Given the description of an element on the screen output the (x, y) to click on. 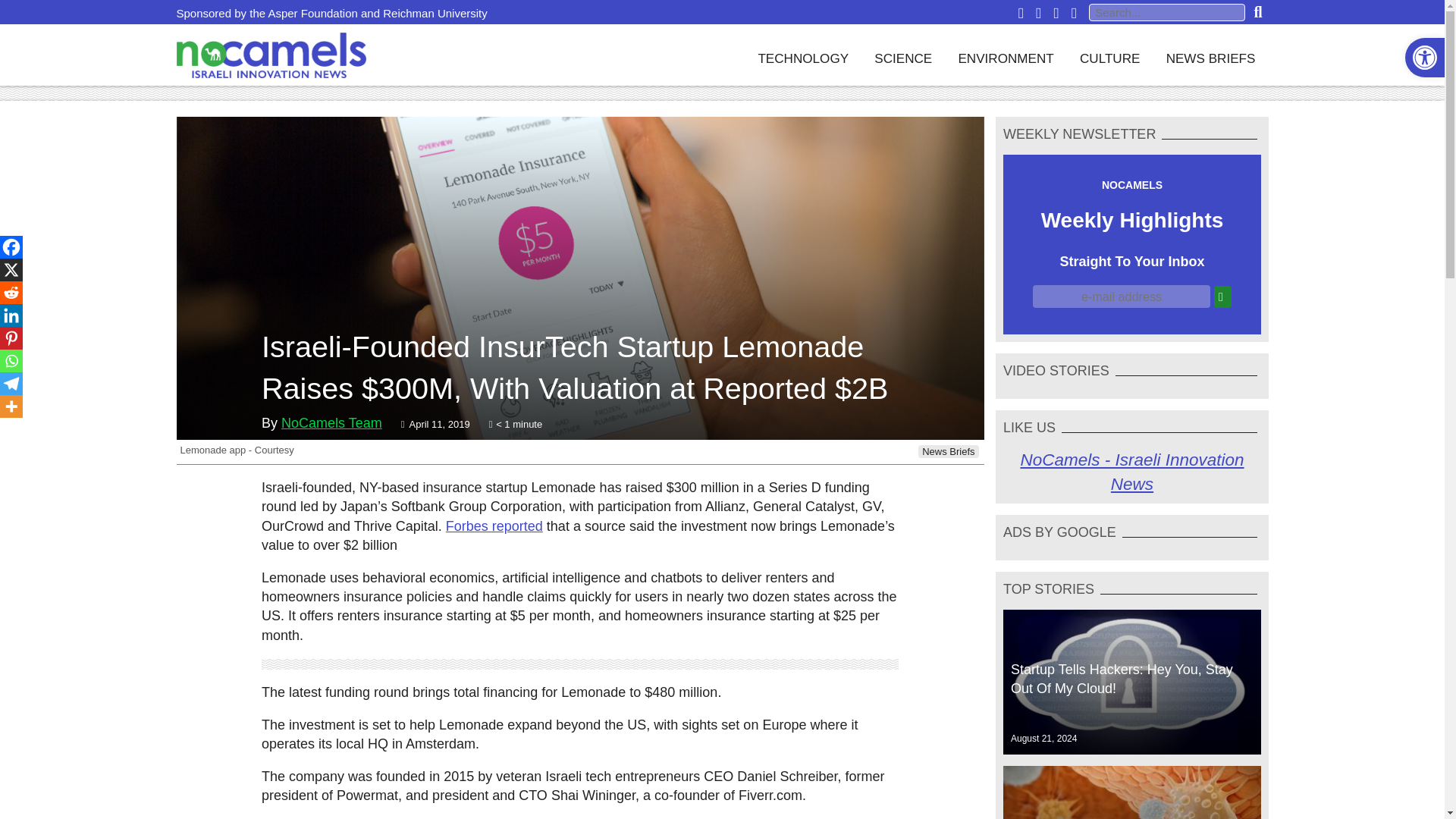
Forbes reported (494, 525)
the Asper Foundation (303, 11)
CULTURE (1110, 55)
Linkedin (11, 314)
SCIENCE (903, 55)
News Briefs (948, 451)
NoCamels Team (331, 422)
Telegram (11, 383)
More (11, 405)
Pinterest (11, 337)
